Given the description of an element on the screen output the (x, y) to click on. 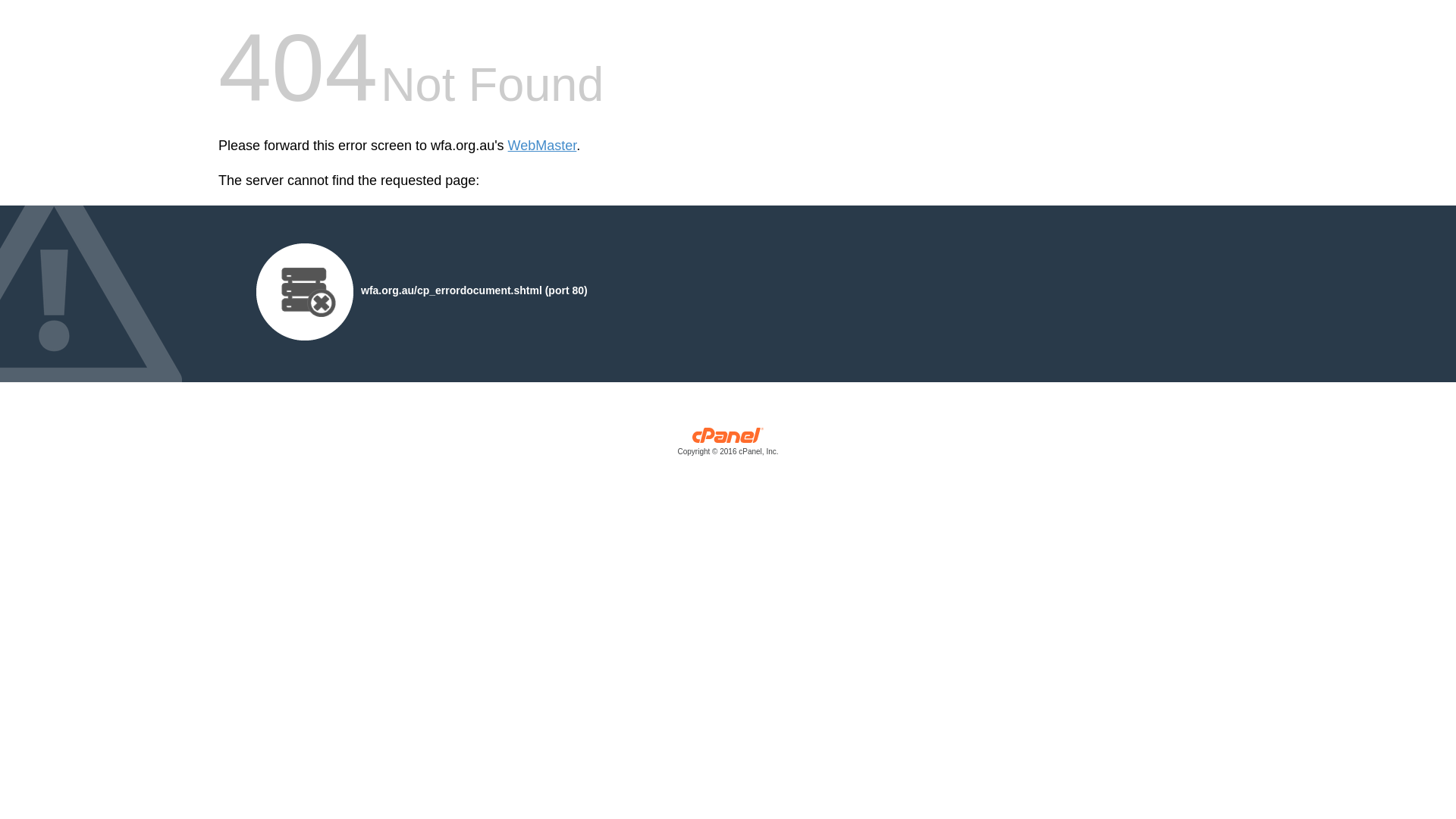
WebMaster Element type: text (542, 145)
